Given the description of an element on the screen output the (x, y) to click on. 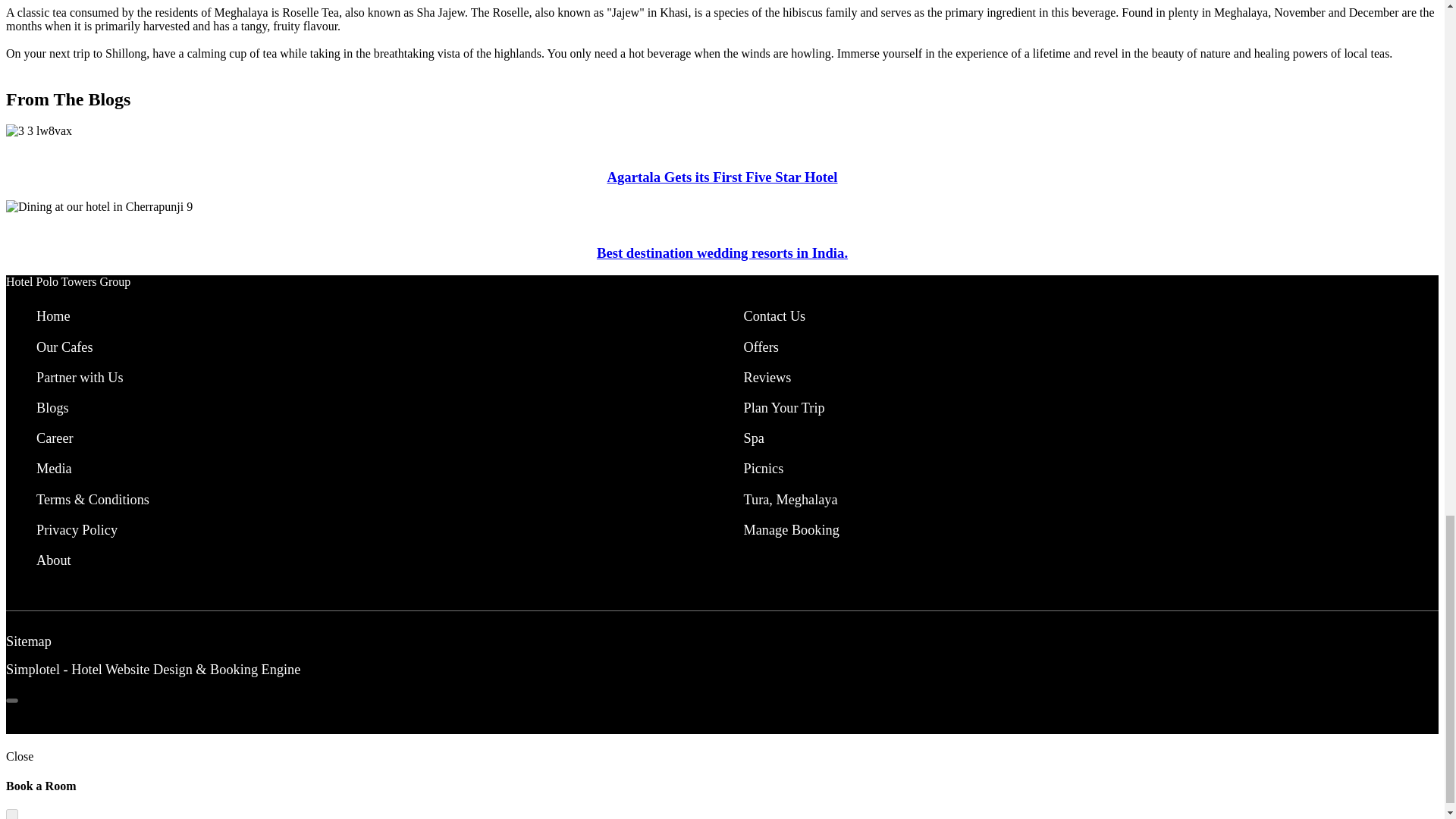
click here for sitemap (27, 641)
